Given the description of an element on the screen output the (x, y) to click on. 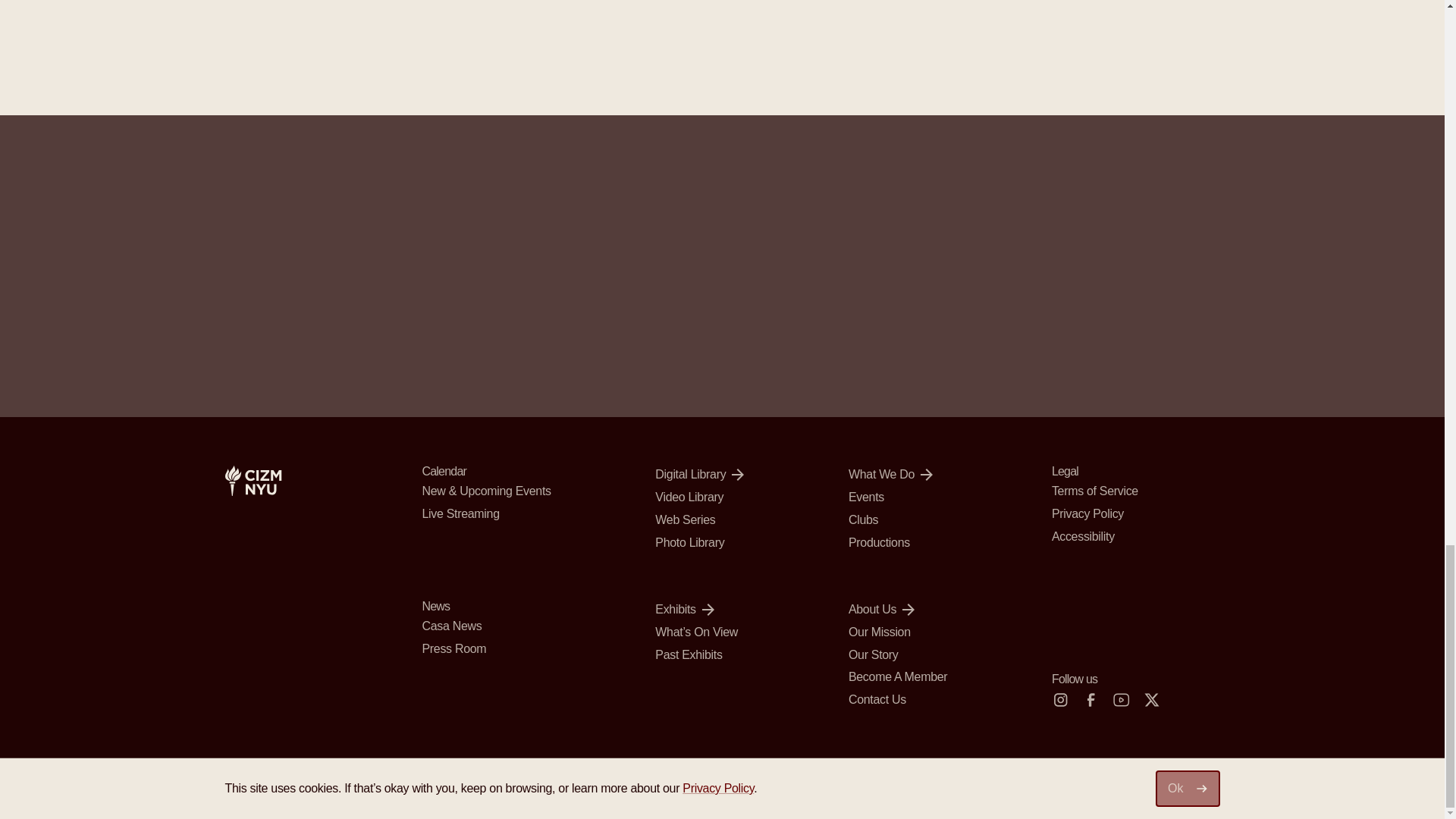
Facebook (1090, 700)
Instagram (1060, 700)
